Given the description of an element on the screen output the (x, y) to click on. 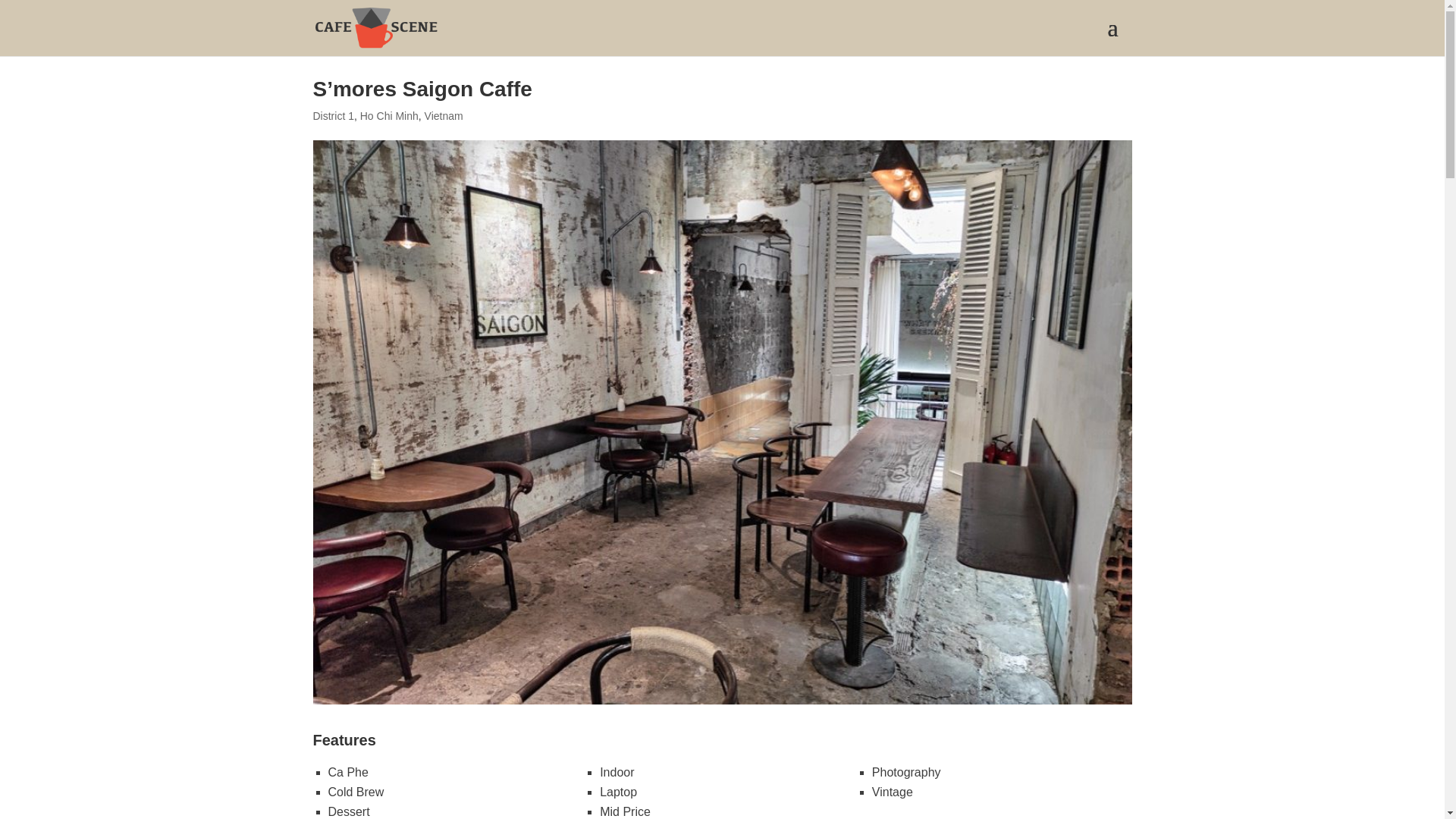
Vietnam (444, 115)
Ho Chi Minh (389, 115)
District 1 (333, 115)
